Given the description of an element on the screen output the (x, y) to click on. 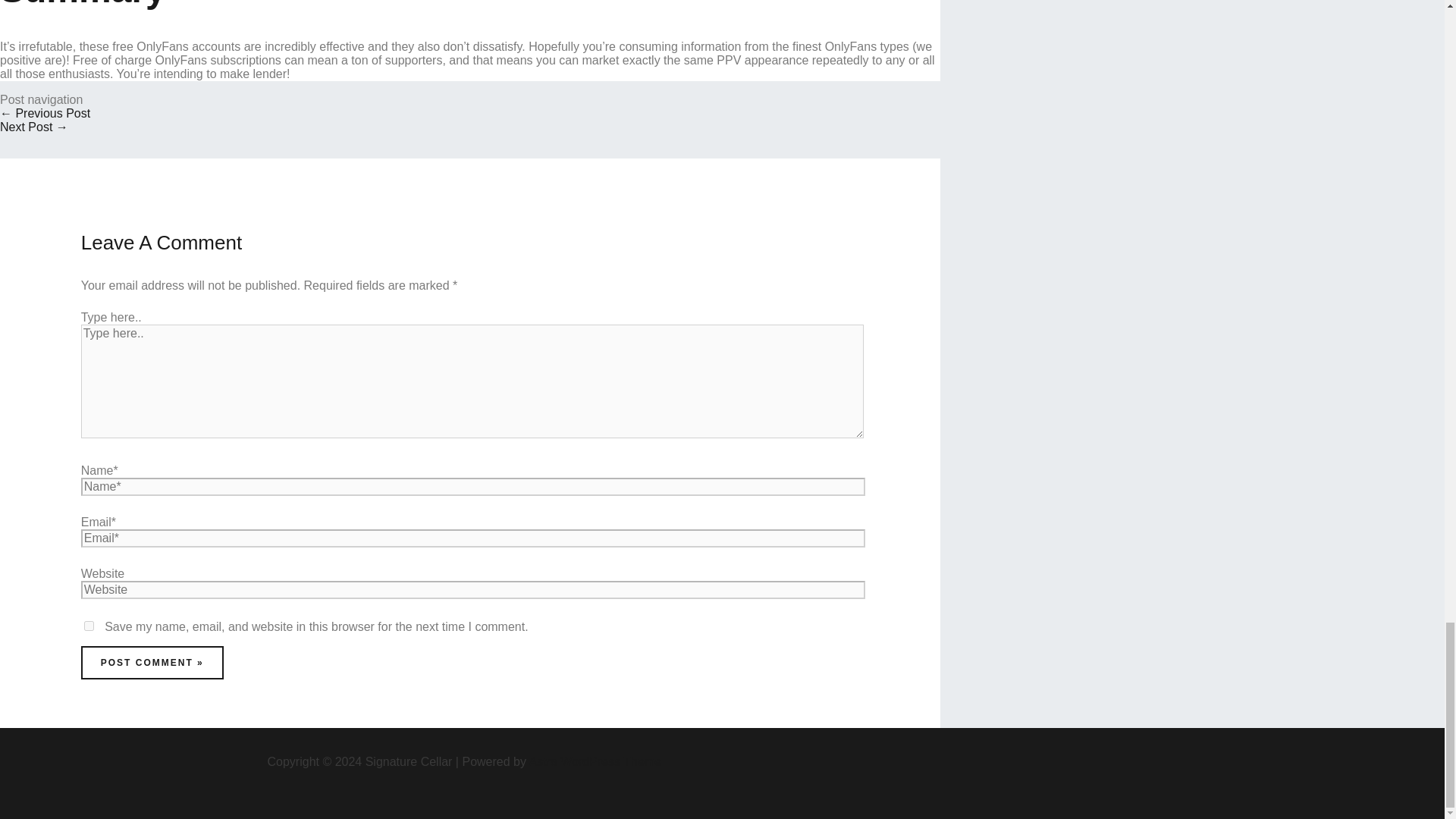
Astra WordPress Theme (595, 761)
yes (89, 625)
